Given the description of an element on the screen output the (x, y) to click on. 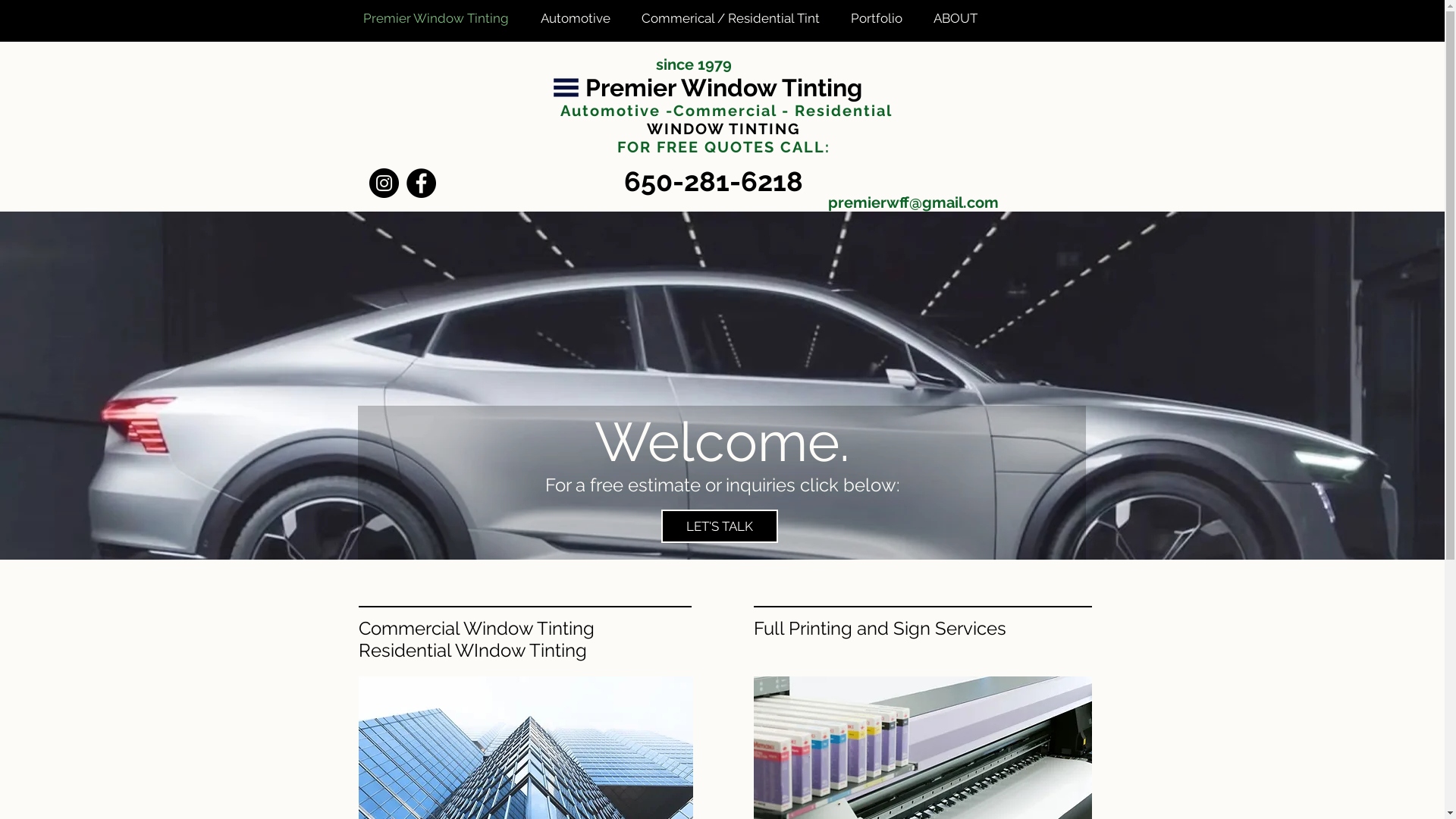
Portfolio Element type: text (879, 18)
 Automotive -Commercial - Residential Element type: text (723, 110)
Premier Window Tinting Element type: text (440, 18)
LET'S TALK Element type: text (719, 525)
premierwff@gmail.com Element type: text (913, 202)
Commerical / Residential Tint Element type: text (733, 18)
Premier Window Tinting Element type: text (723, 87)
ABOUT Element type: text (959, 18)
Automotive Element type: text (579, 18)
